Given the description of an element on the screen output the (x, y) to click on. 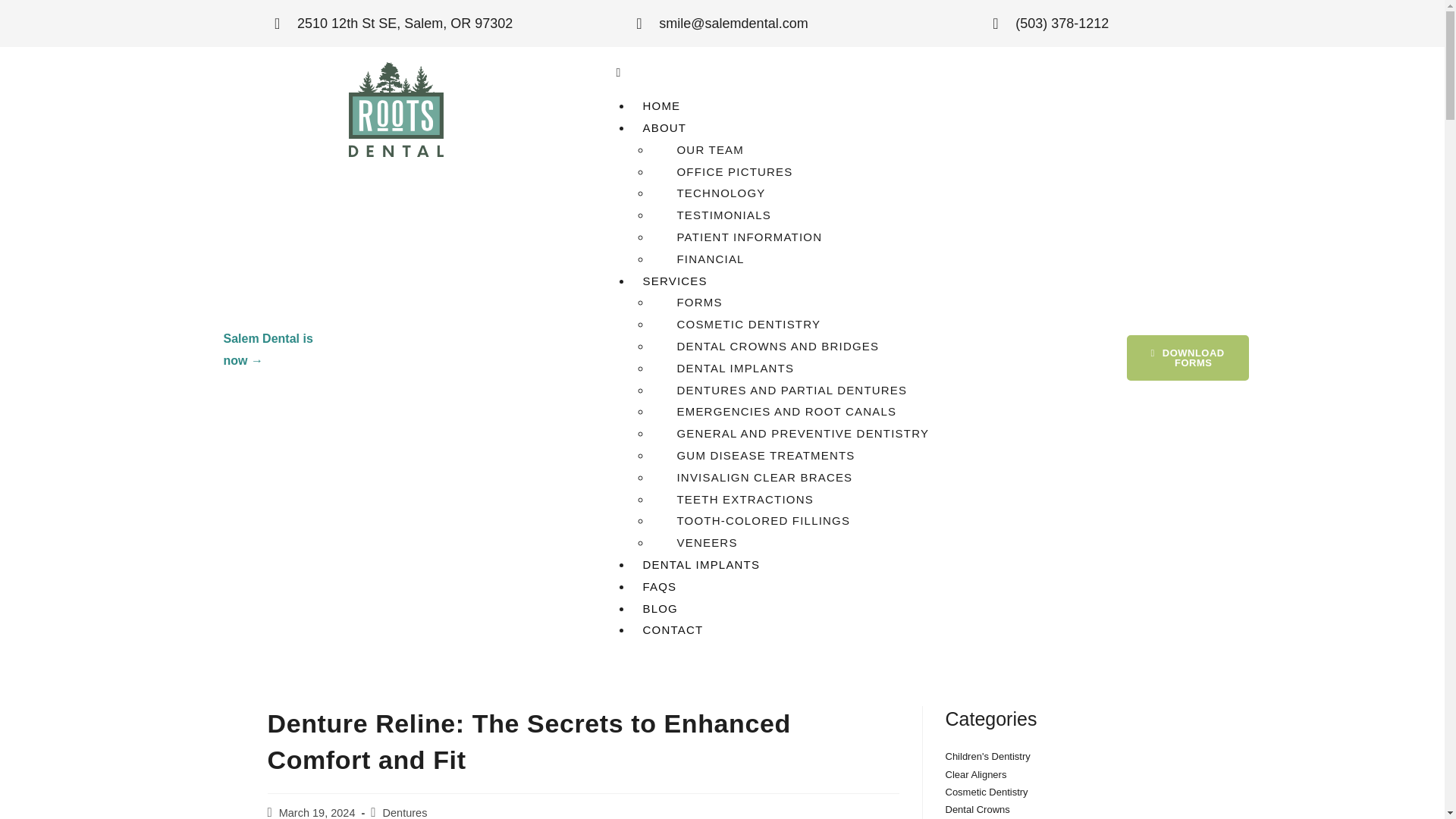
DENTURES AND PARTIAL DENTURES (784, 389)
DENTAL IMPLANTS (700, 564)
OUR TEAM (702, 149)
TEETH EXTRACTIONS (737, 498)
TECHNOLOGY (713, 192)
BLOG (659, 608)
TESTIMONIALS (716, 214)
COSMETIC DENTISTRY (741, 324)
2510 12th St SE, Salem, OR 97302 (393, 23)
SERVICES (673, 280)
DENTAL CROWNS AND BRIDGES (770, 345)
OFFICE PICTURES (727, 171)
GUM DISEASE TREATMENTS (758, 455)
VENEERS (699, 542)
INVISALIGN CLEAR BRACES (757, 477)
